Given the description of an element on the screen output the (x, y) to click on. 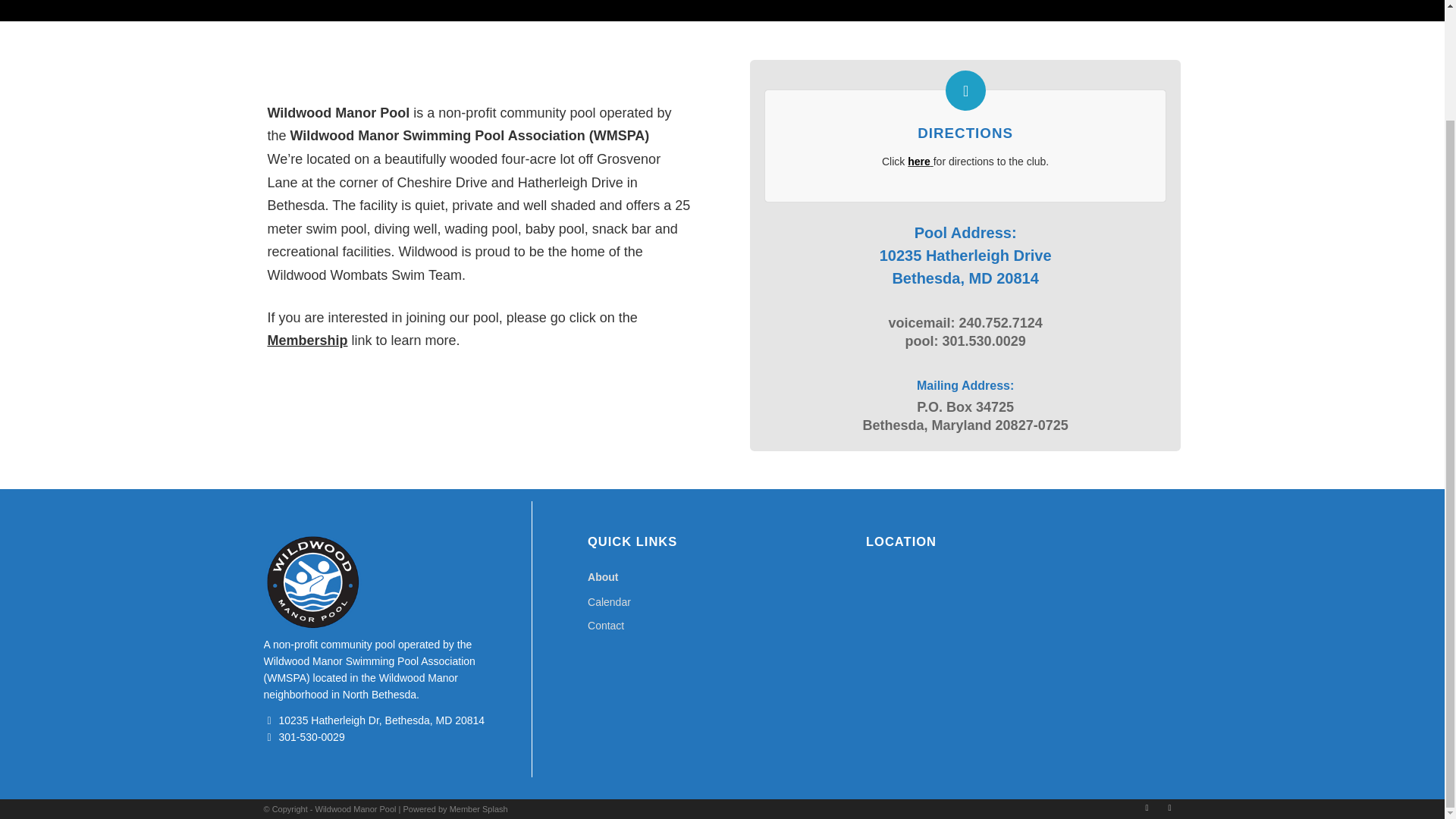
ABOUT (297, 0)
Permanent Link: About (297, 0)
Membership (306, 340)
Calendar (722, 602)
About (722, 577)
here (918, 161)
Contact (722, 626)
Powered by Member Splash (454, 809)
